Given the description of an element on the screen output the (x, y) to click on. 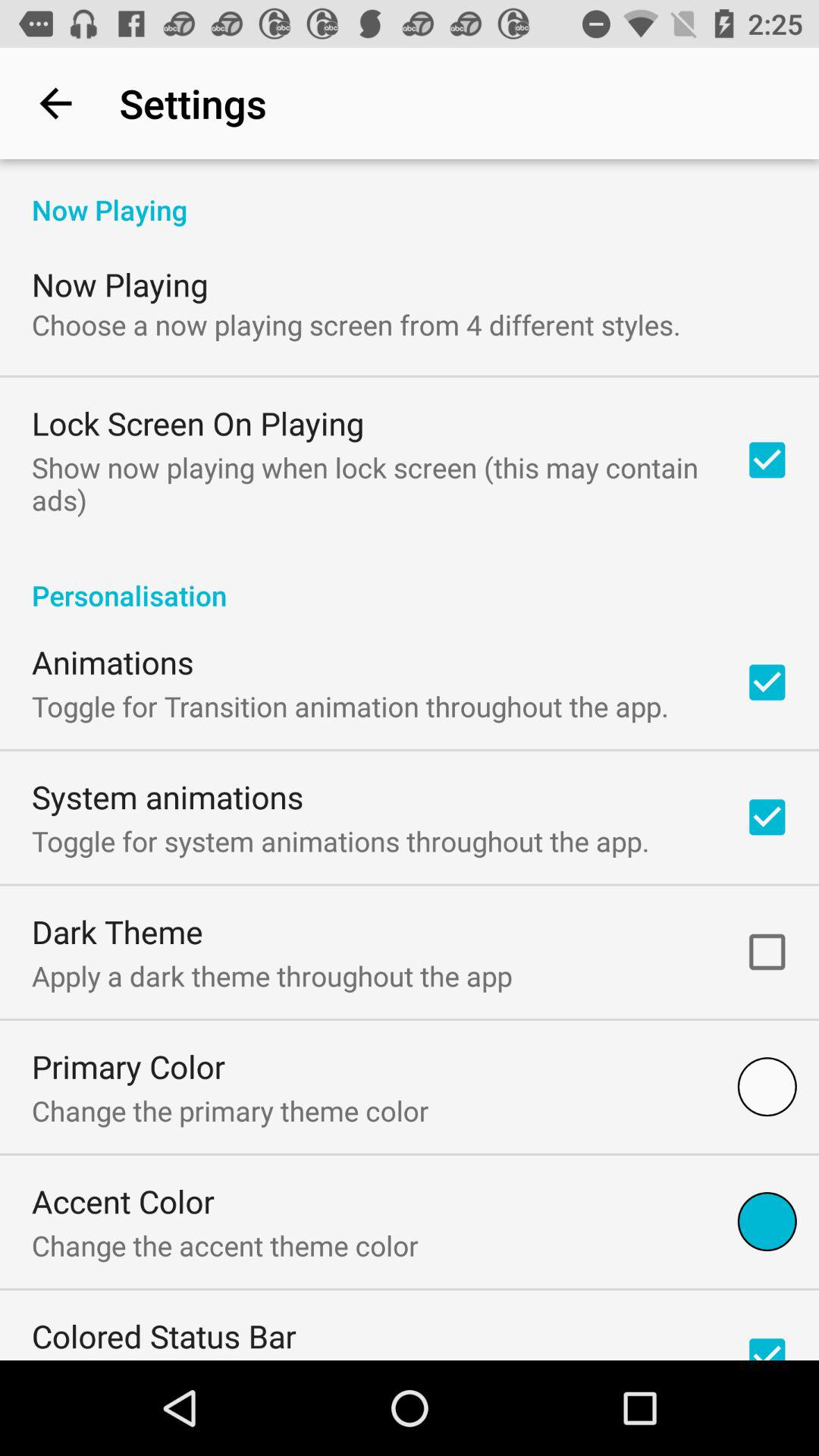
turn on the icon below show now playing item (409, 579)
